Given the description of an element on the screen output the (x, y) to click on. 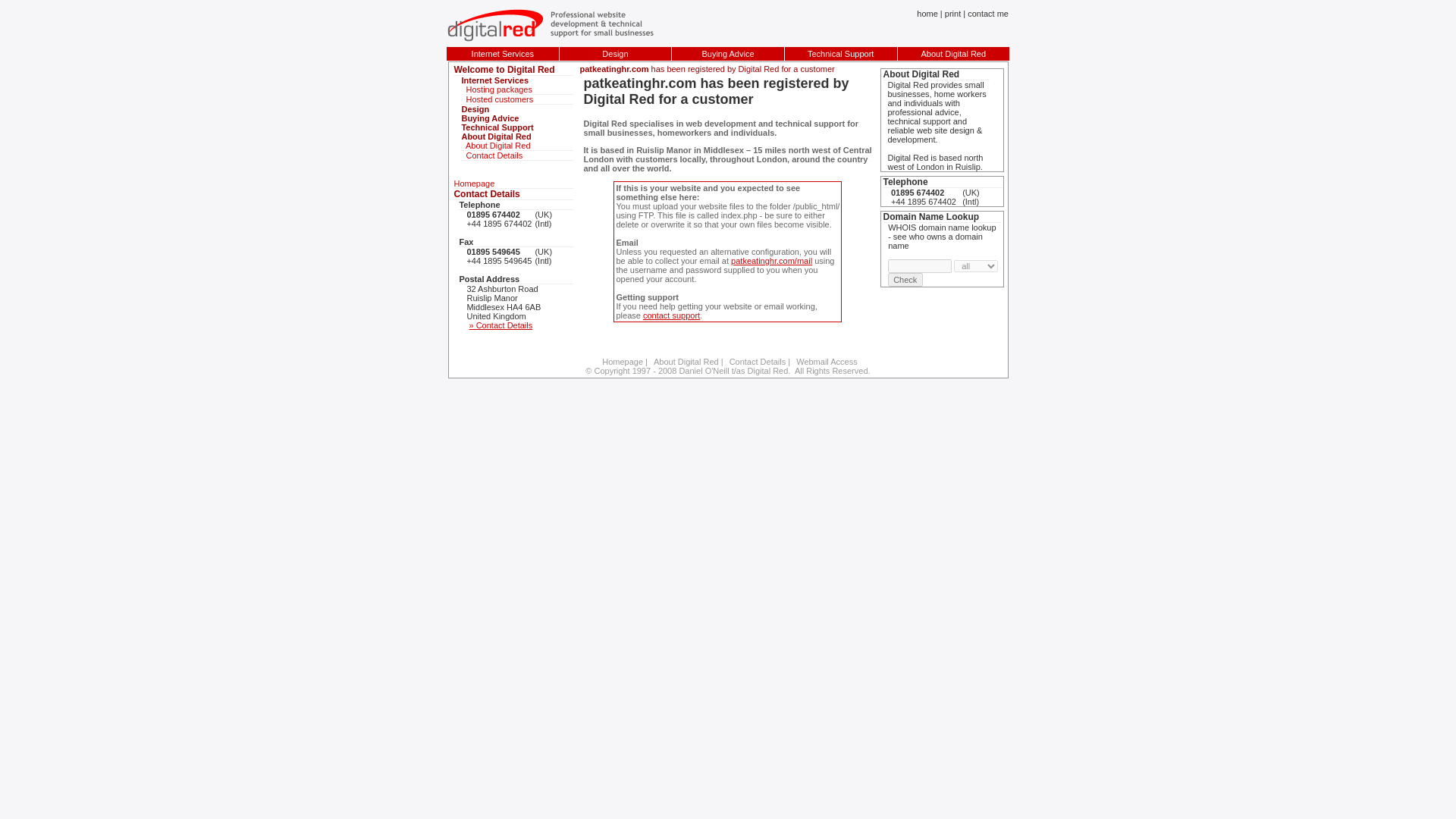
  About Digital Red (517, 145)
  Hosted customers (517, 99)
  Contact Details (517, 155)
contact me (988, 13)
Contact Details (755, 361)
Homepage (620, 361)
About Digital Red (952, 53)
About Digital Red (684, 361)
Design (614, 53)
About Digital Red (517, 135)
